Given the description of an element on the screen output the (x, y) to click on. 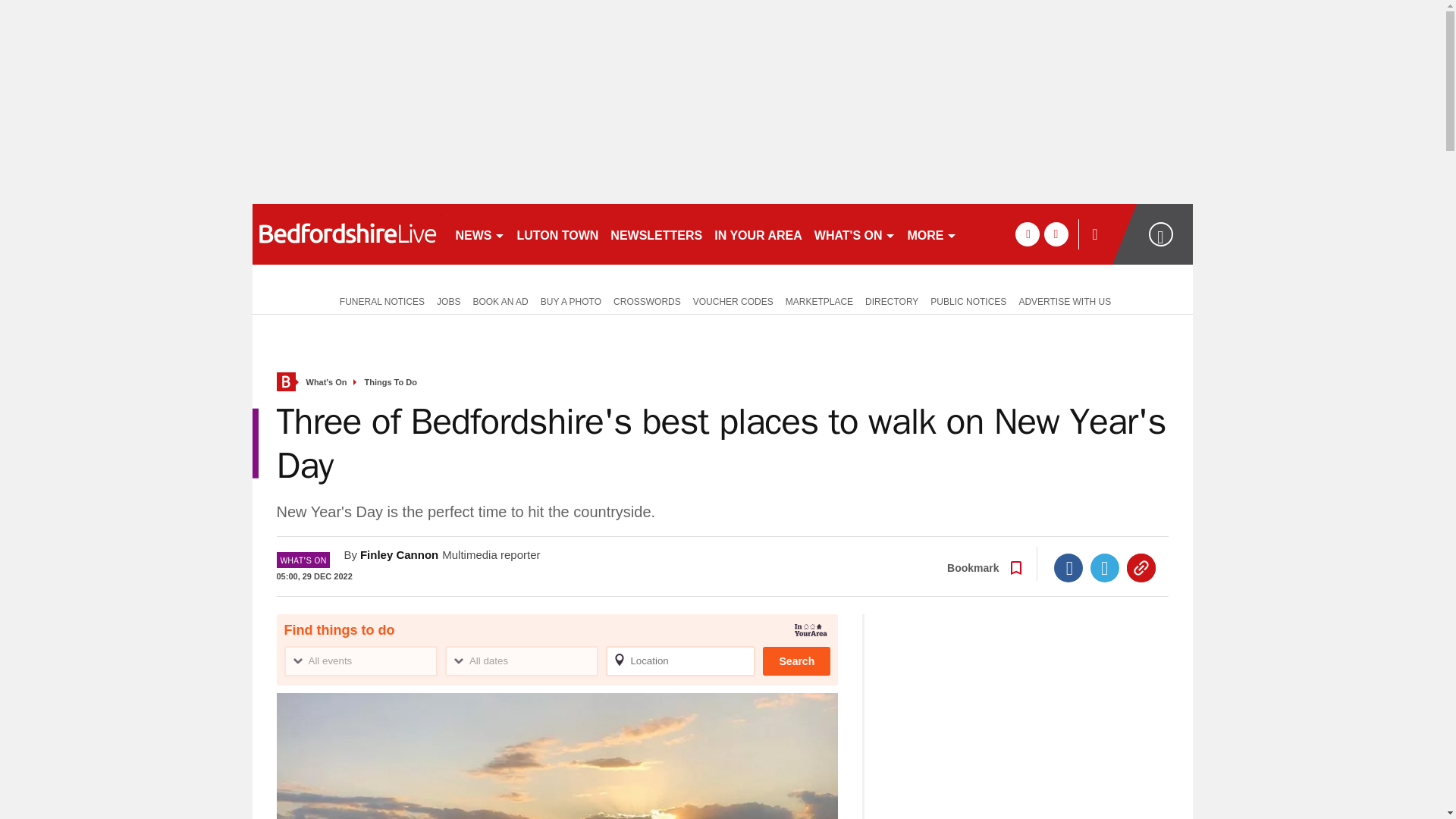
VOUCHER CODES (732, 300)
NEWS (479, 233)
IN YOUR AREA (757, 233)
bedfordshirelive (346, 233)
JOBS (447, 300)
Twitter (1104, 567)
DIRECTORY (891, 300)
LUTON TOWN (558, 233)
ADVERTISE WITH US (1063, 300)
Home (285, 381)
